Given the description of an element on the screen output the (x, y) to click on. 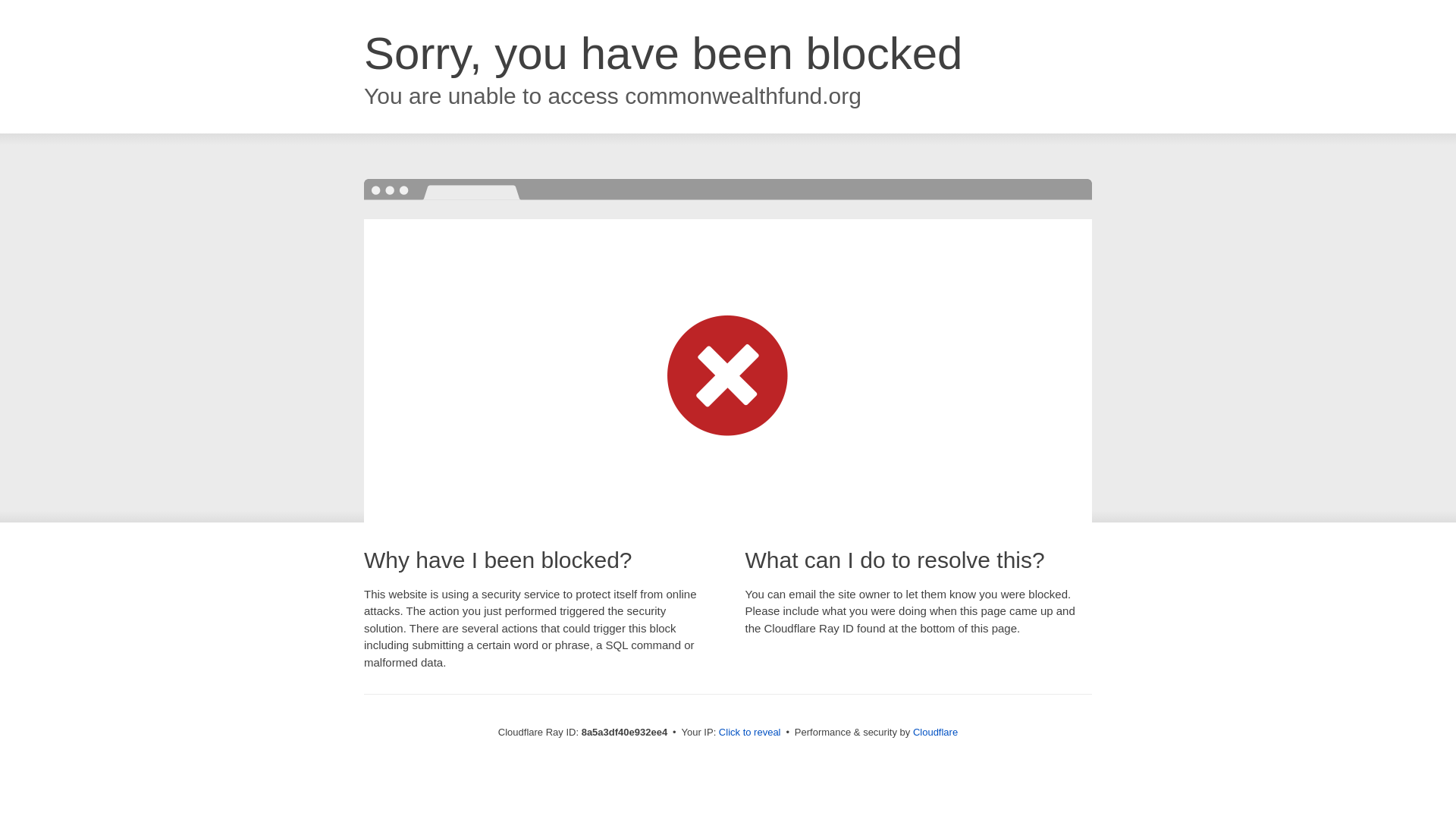
Cloudflare (935, 731)
Click to reveal (749, 732)
